Given the description of an element on the screen output the (x, y) to click on. 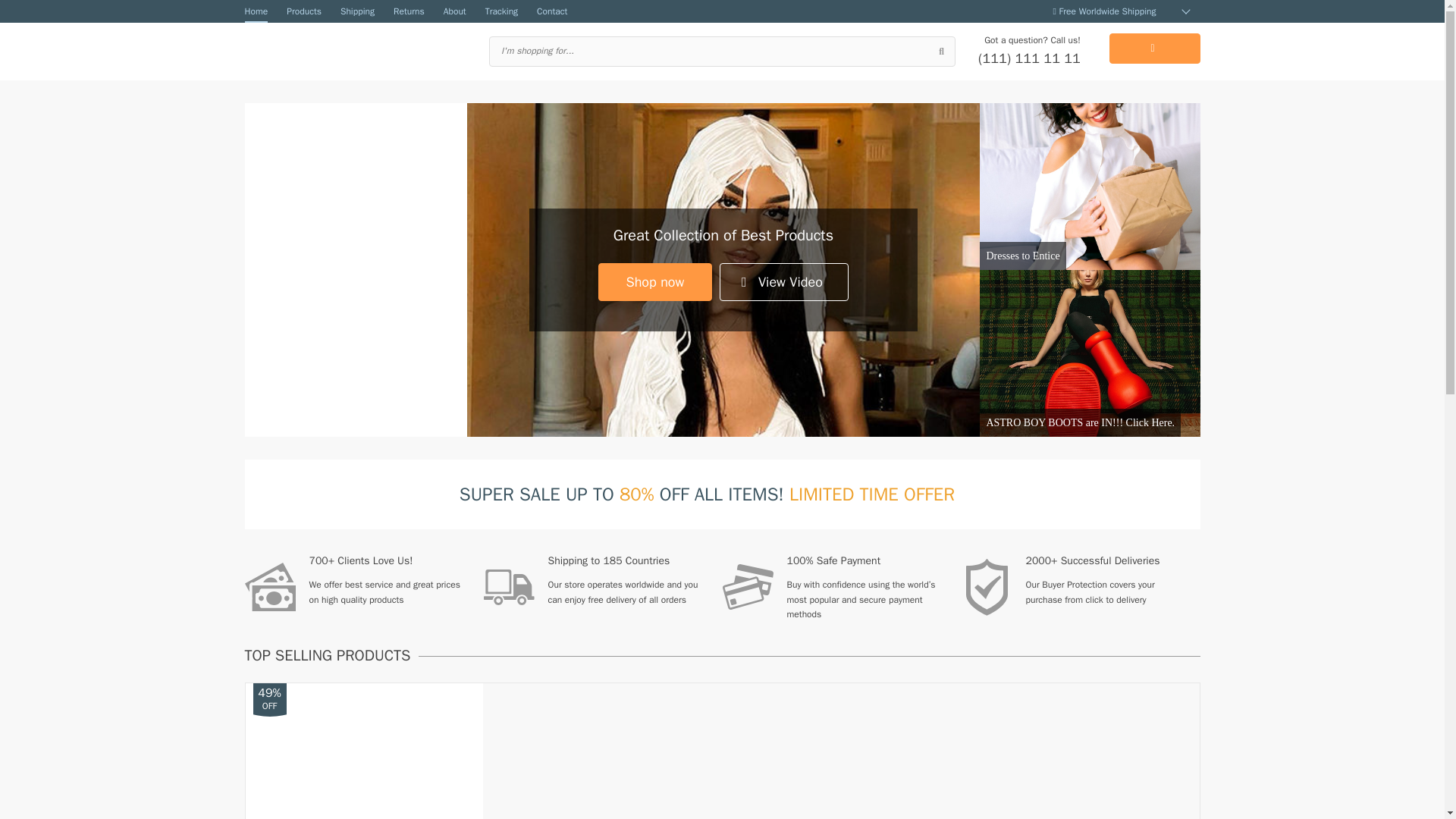
Contact (552, 11)
Products (303, 11)
ASTRO BOY BOOTS are IN!!! Click Here. (1089, 353)
Dresses to Entice (1089, 186)
Shipping (357, 11)
TOP SELLING PRODUCTS (330, 655)
Tracking (501, 11)
View Video (783, 281)
About (454, 11)
Returns (409, 11)
